Given the description of an element on the screen output the (x, y) to click on. 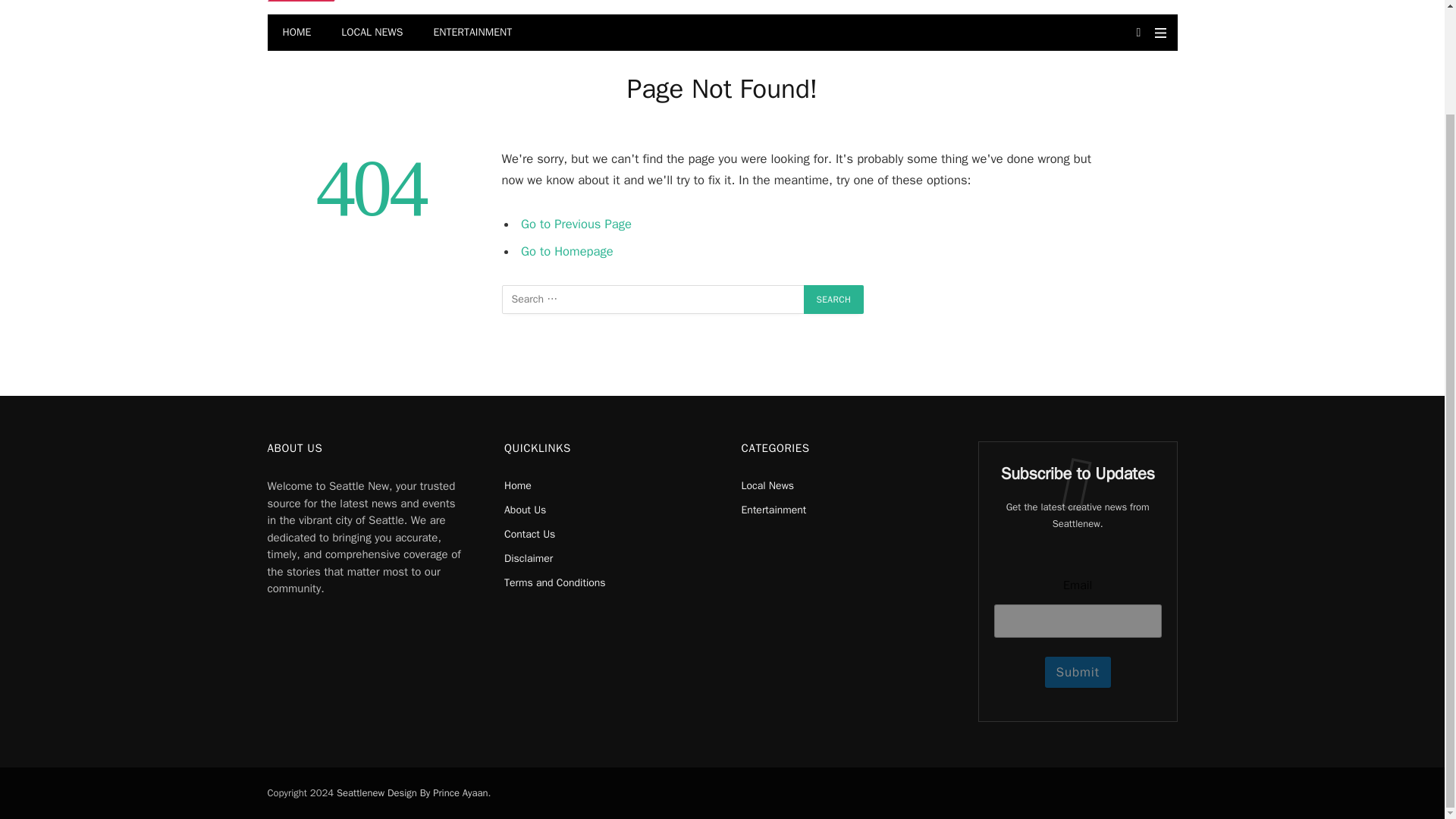
Disclaimer (528, 558)
Contact Us (528, 533)
Search (833, 299)
HOME (296, 32)
Search (833, 299)
Go to Homepage (566, 251)
Entertainment (773, 509)
About Us (524, 509)
Home (517, 485)
Search (833, 299)
